Given the description of an element on the screen output the (x, y) to click on. 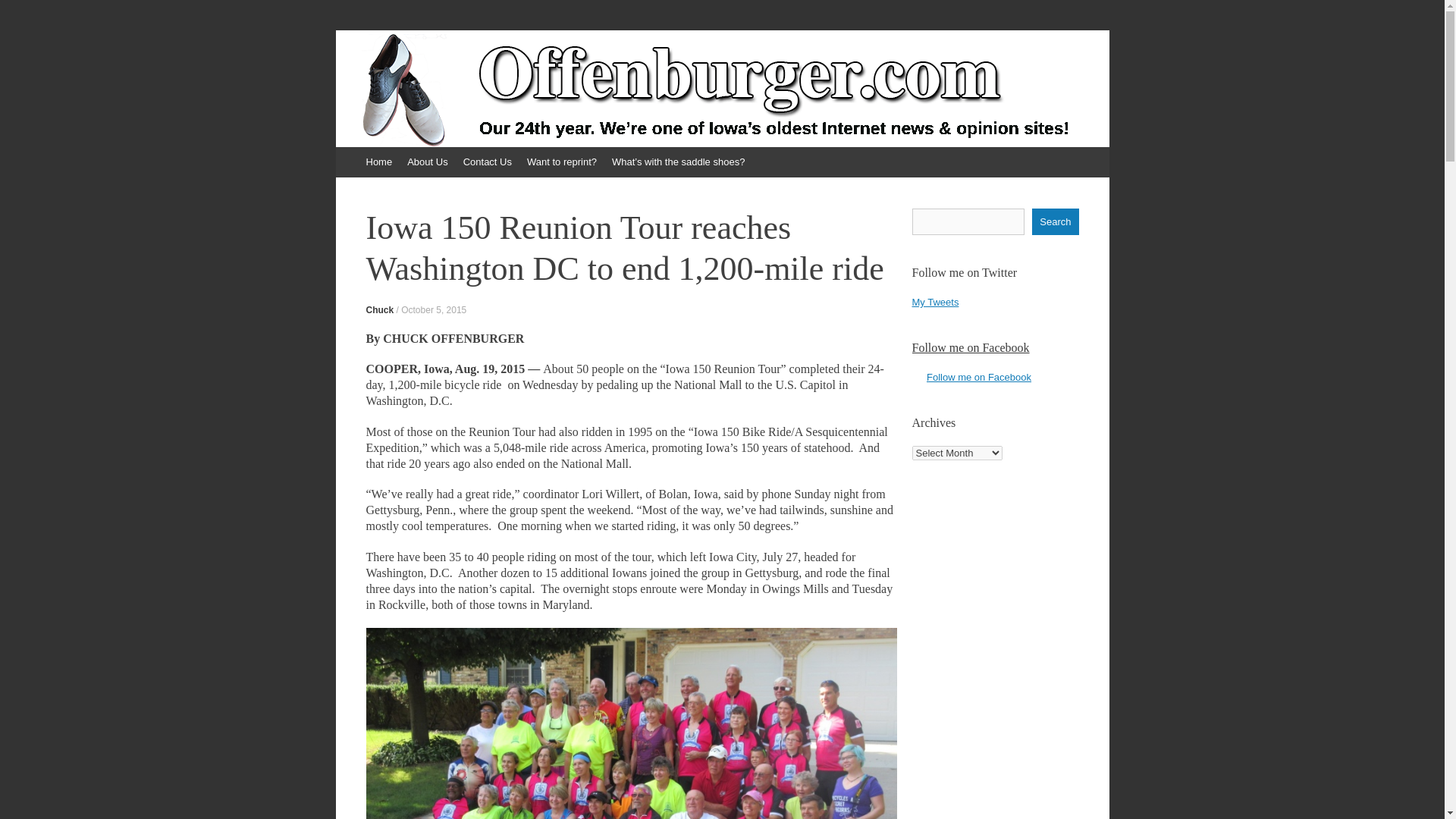
5 Those on the Iowa 150 Reunion Tour.JPG (630, 723)
Follow me on Facebook (970, 347)
Skip to content (342, 153)
Search (1055, 221)
Contact Us (487, 162)
Chuck (379, 309)
Offenburger.com (453, 80)
My Tweets (934, 301)
Follow me on Facebook (978, 377)
October 5, 2015 (433, 309)
Home (378, 162)
Offenburger.com (453, 80)
Want to reprint? (561, 162)
About Us (426, 162)
